Given the description of an element on the screen output the (x, y) to click on. 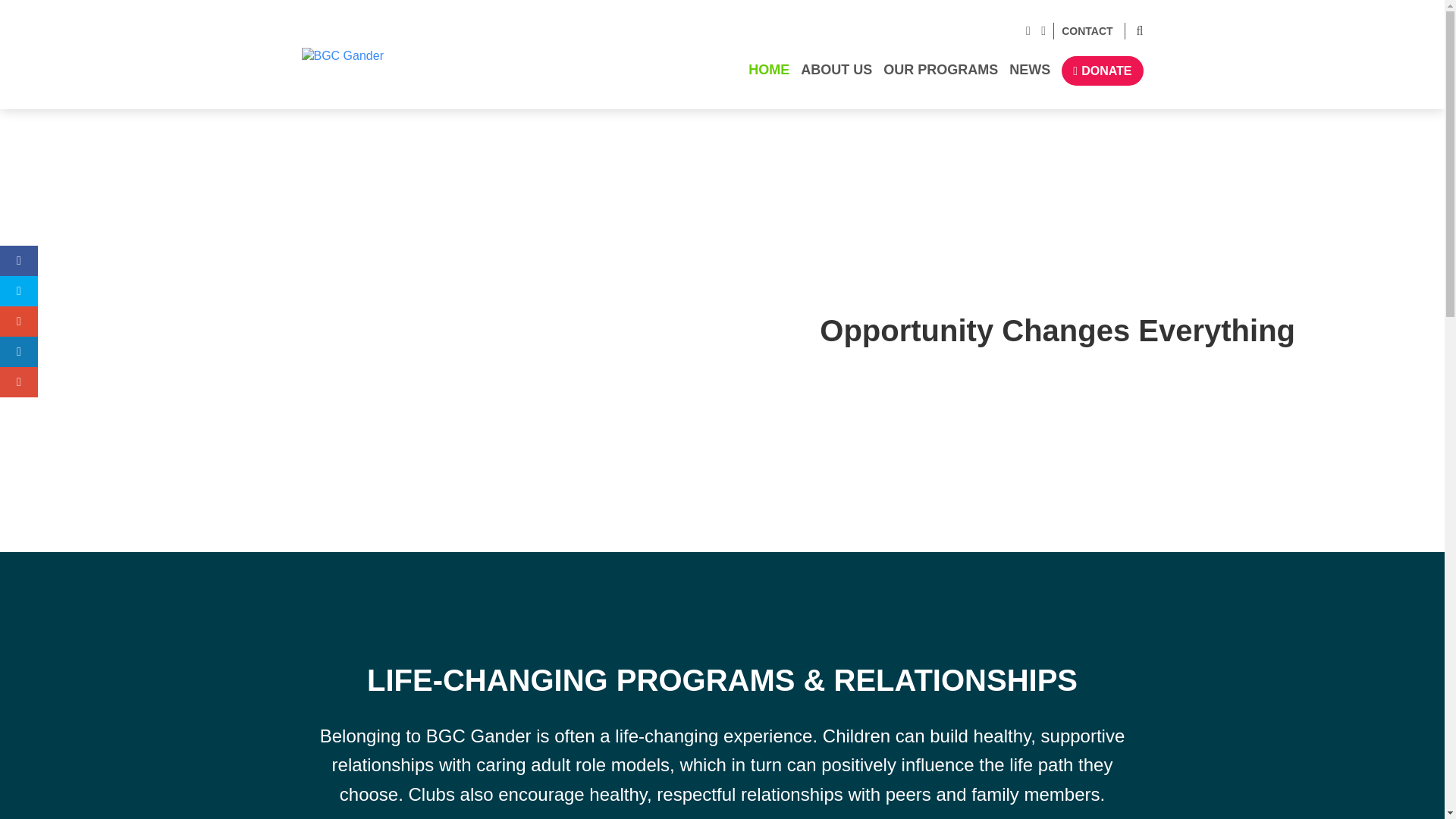
DONATE Element type: text (1101, 70)
NEWS Element type: text (1030, 76)
ABOUT US Element type: text (836, 76)
OUR PROGRAMS Element type: text (941, 76)
HOME Element type: text (769, 76)
CONTACT Element type: text (1083, 31)
